Given the description of an element on the screen output the (x, y) to click on. 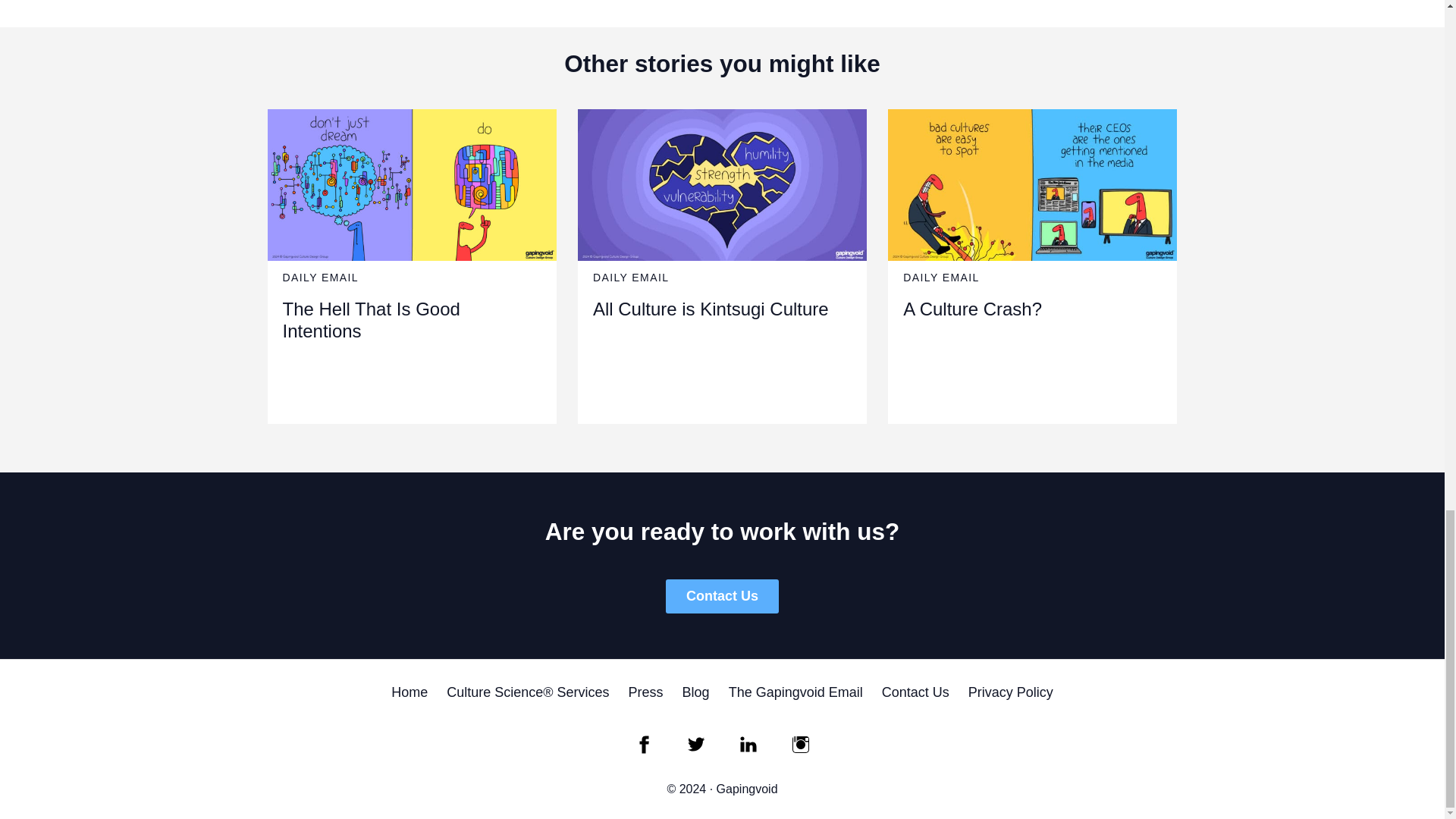
All Culture is Kintsugi Culture (710, 308)
DAILY EMAIL (320, 277)
DAILY EMAIL (630, 277)
The Hell That Is Good Intentions (371, 319)
